Given the description of an element on the screen output the (x, y) to click on. 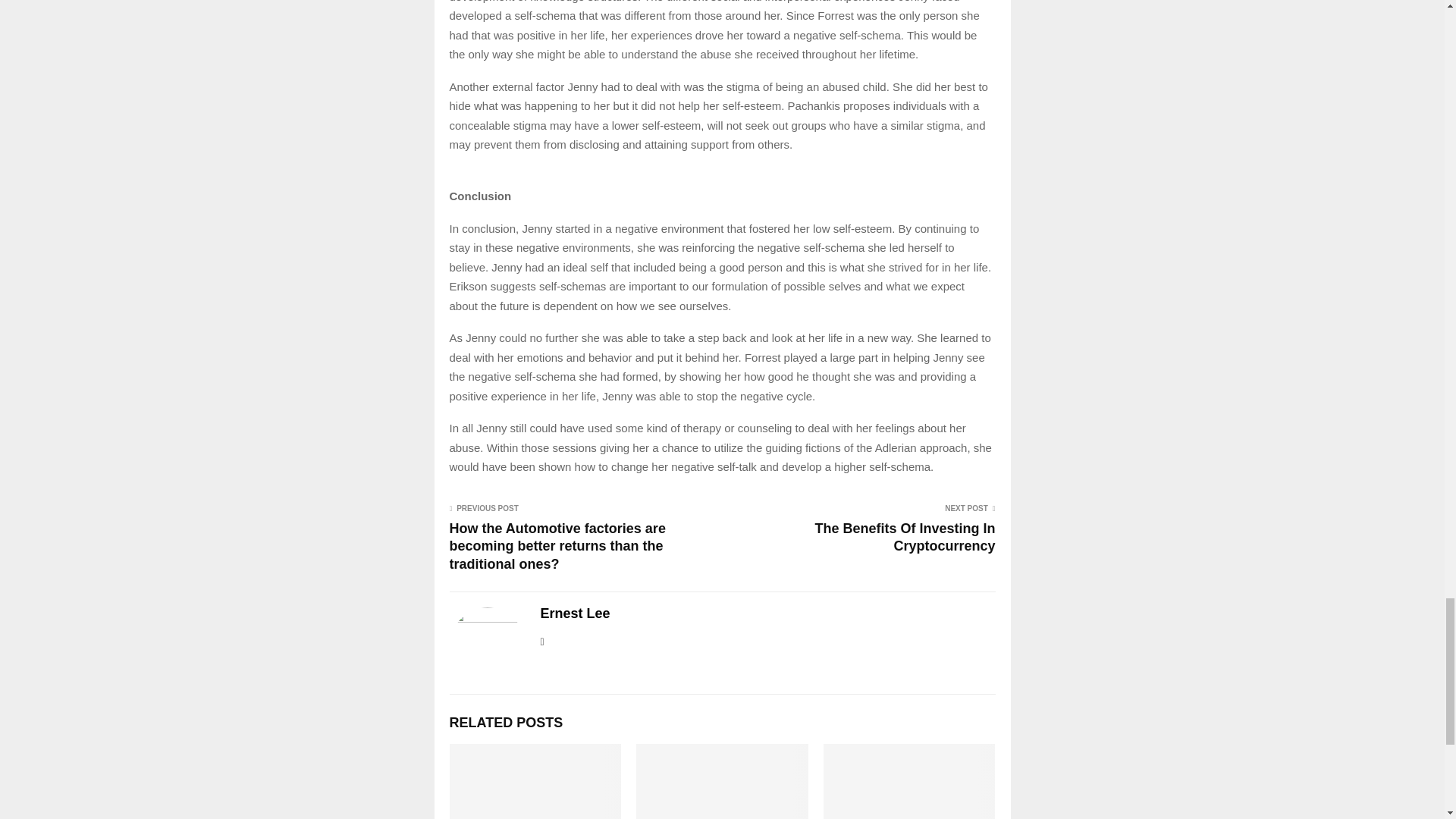
The Benefits Of Investing In Cryptocurrency (903, 536)
Posts by Ernest Lee (575, 613)
Ernest Lee (575, 613)
